Given the description of an element on the screen output the (x, y) to click on. 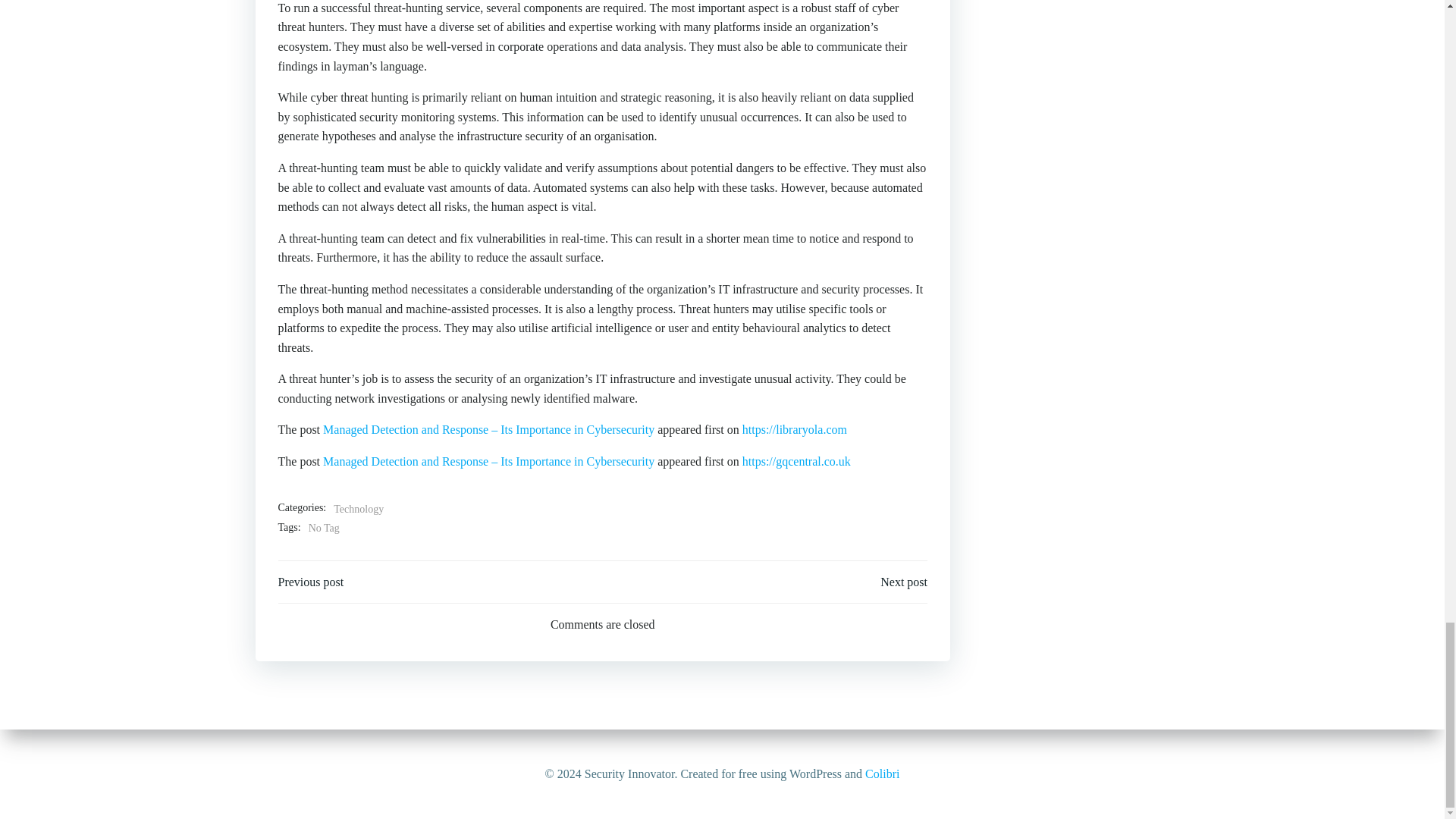
Next post (903, 582)
Technology (358, 509)
Previous post (310, 582)
